Given the description of an element on the screen output the (x, y) to click on. 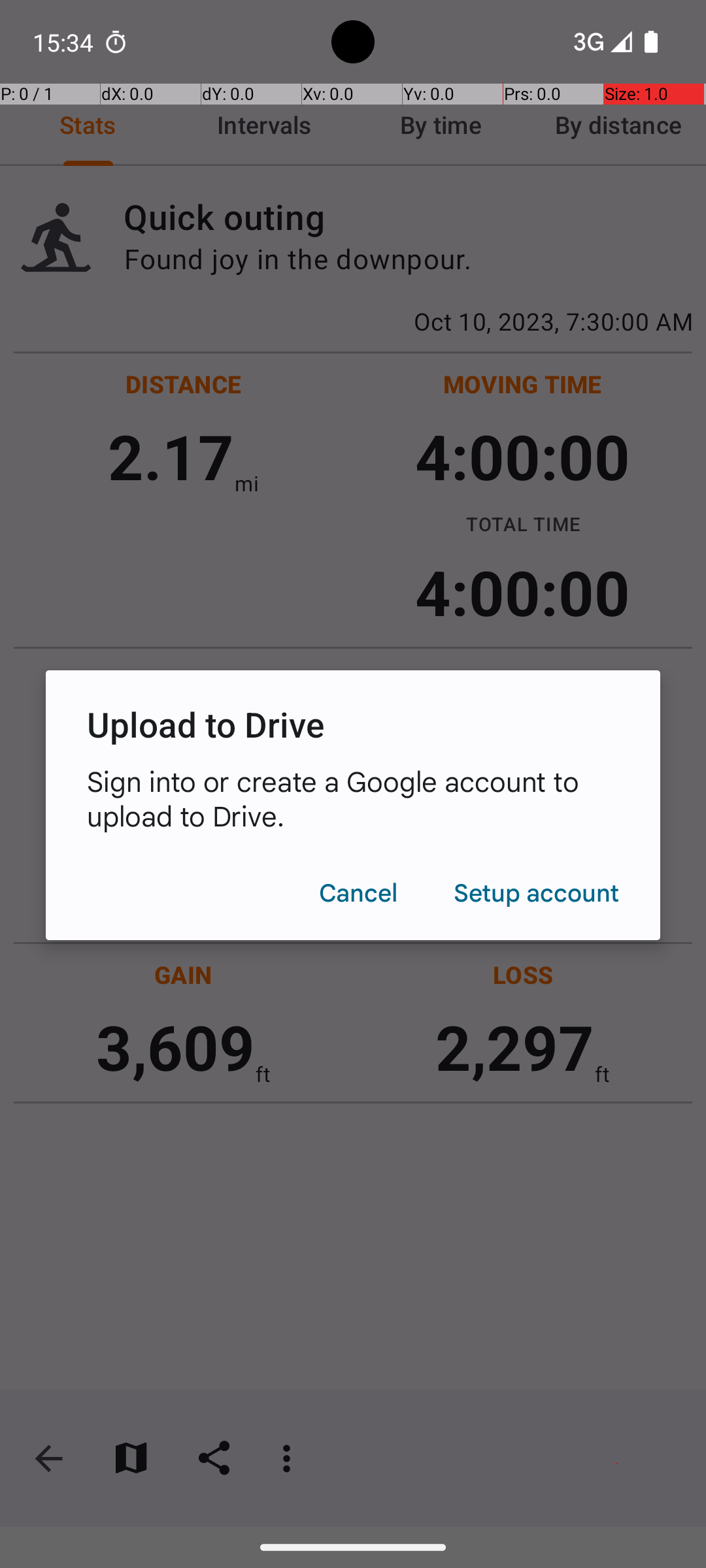
Upload to Drive Element type: android.widget.TextView (352, 724)
Sign into or create a Google account to upload to Drive. Element type: android.widget.TextView (352, 797)
Setup account Element type: android.widget.Button (535, 891)
